Given the description of an element on the screen output the (x, y) to click on. 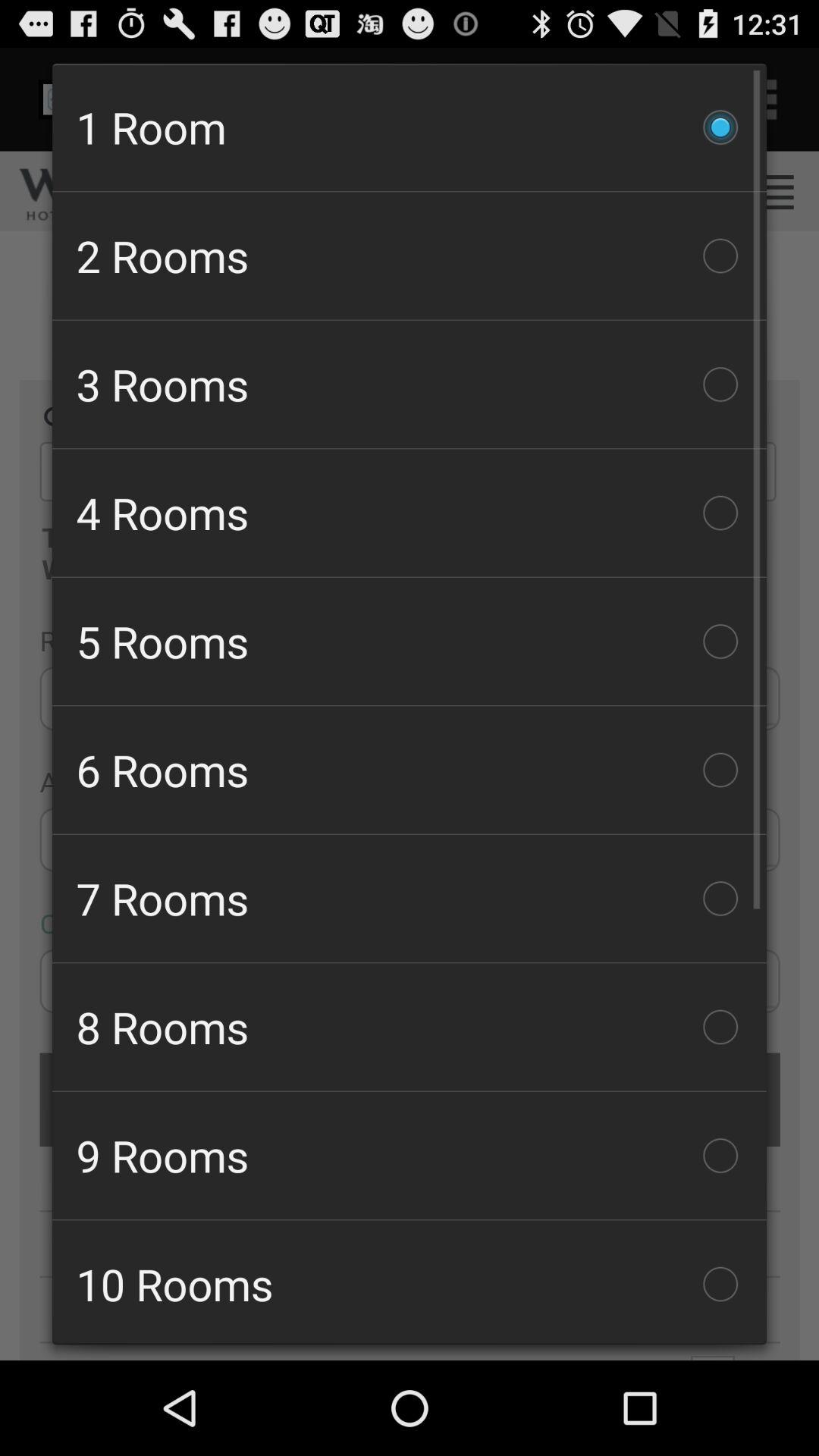
choose item below the 8 rooms icon (409, 1155)
